Given the description of an element on the screen output the (x, y) to click on. 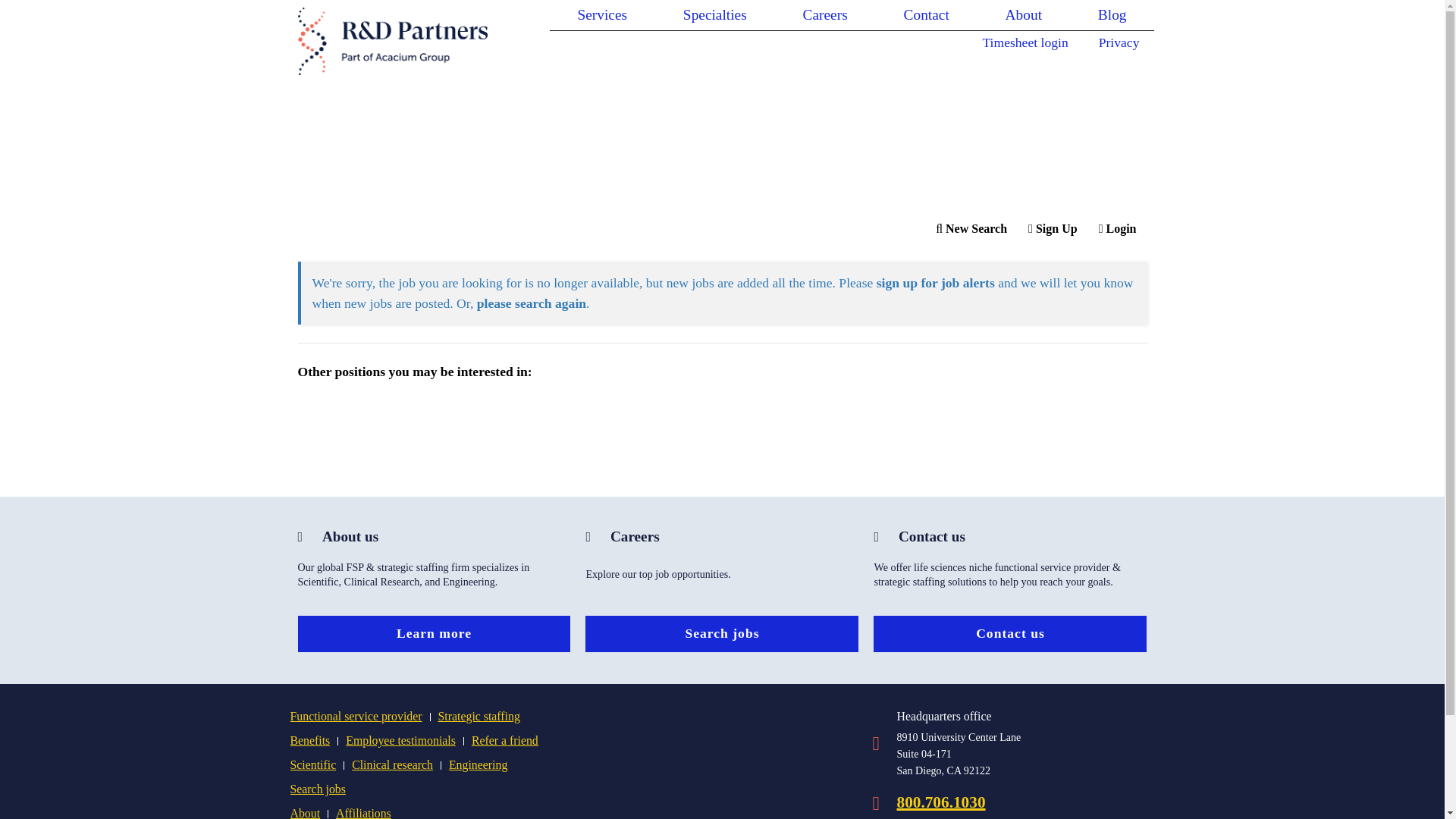
Privacy (1118, 42)
Timesheet login (1024, 42)
Careers (825, 15)
Services (600, 15)
About (1023, 15)
Contact (926, 15)
Specialties (714, 15)
Blog (1112, 15)
